Given the description of an element on the screen output the (x, y) to click on. 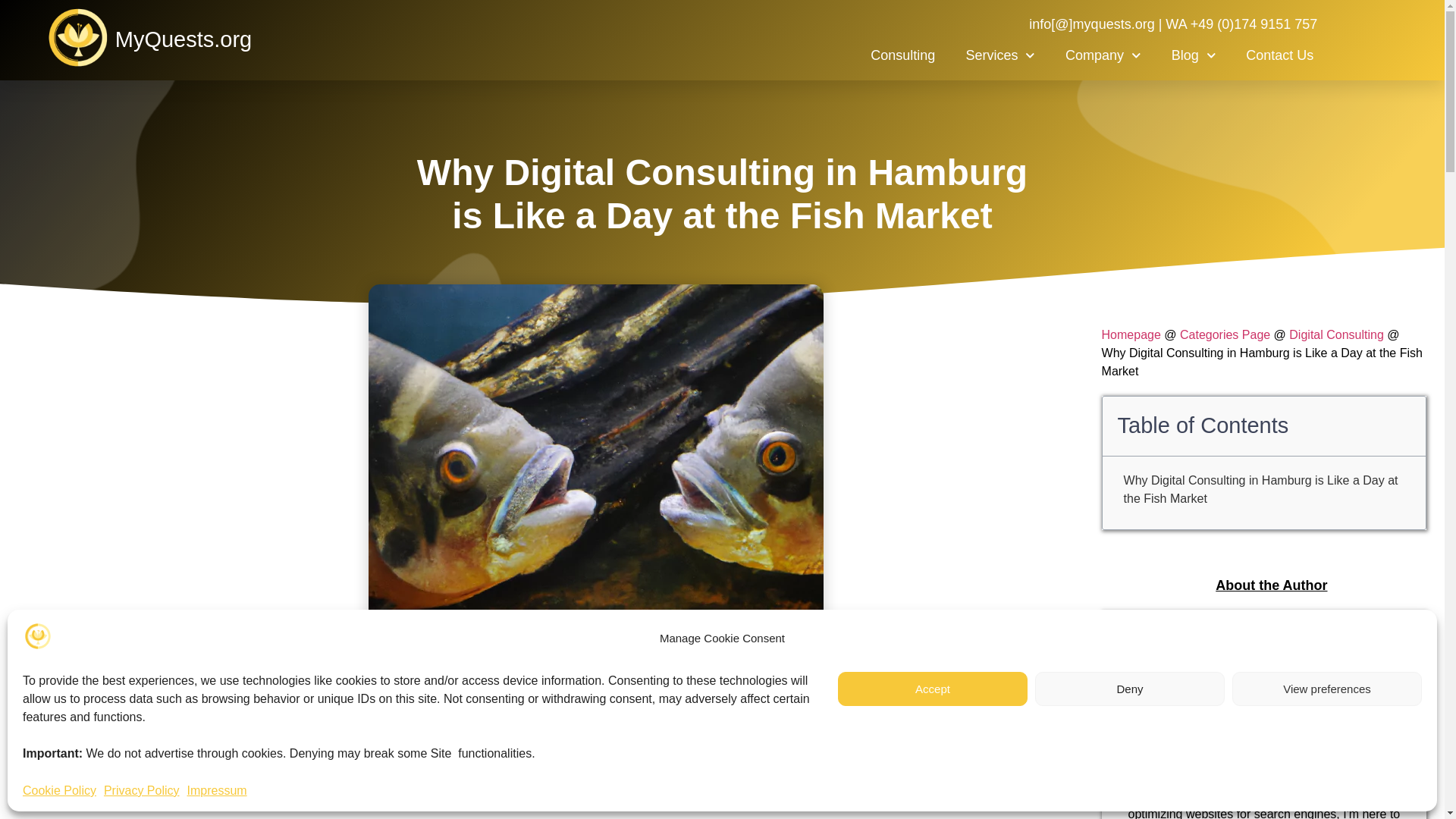
Services (999, 55)
View preferences (1326, 688)
Cookie Policy (59, 791)
Impressum (217, 791)
Consulting (902, 55)
MyQuests.org (183, 39)
Deny (1129, 688)
Blog (1193, 55)
Company (1102, 55)
Accept (932, 688)
Privacy Policy (141, 791)
